Given the description of an element on the screen output the (x, y) to click on. 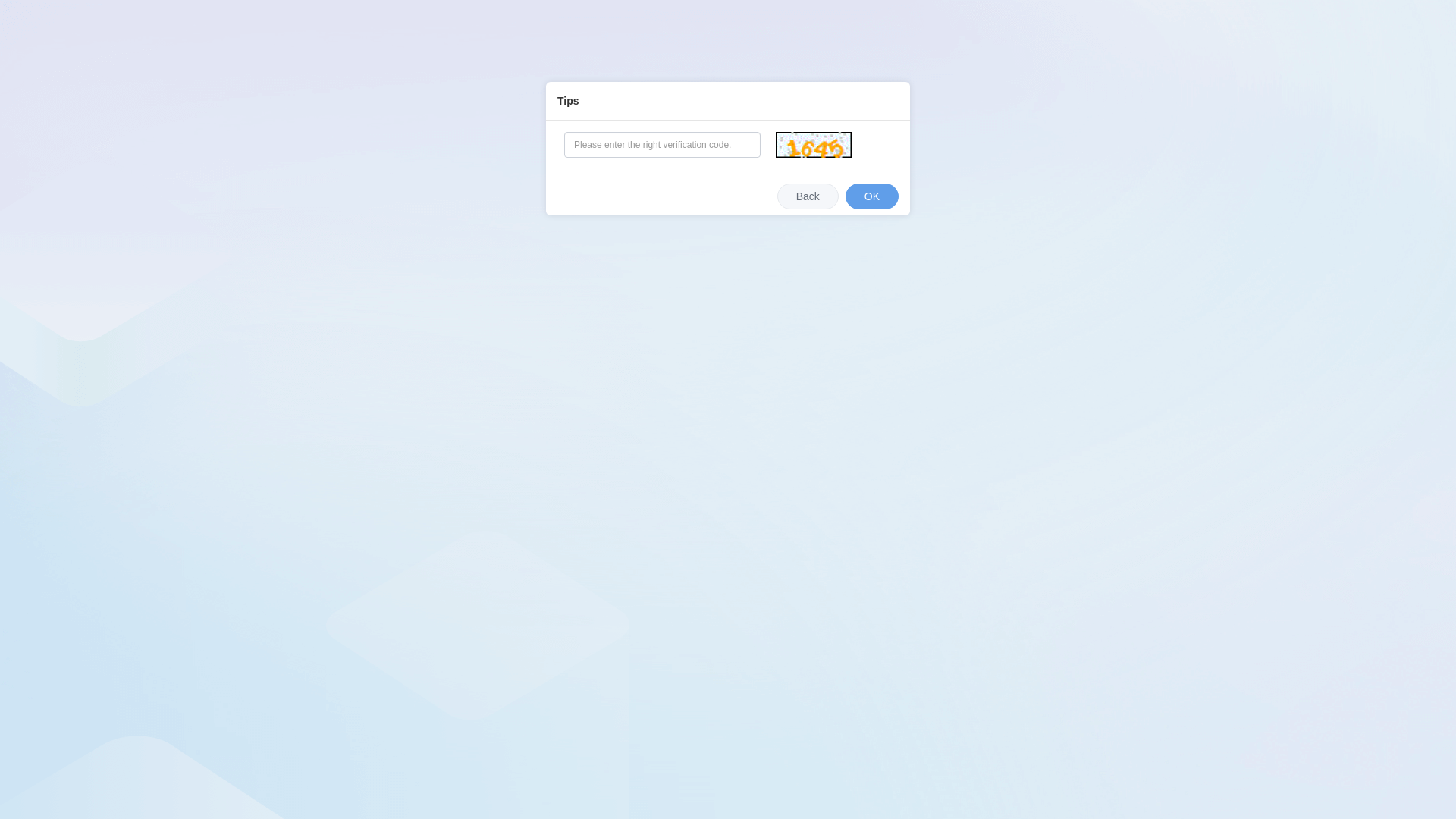
Back Element type: text (807, 196)
OK Element type: text (871, 196)
